Given the description of an element on the screen output the (x, y) to click on. 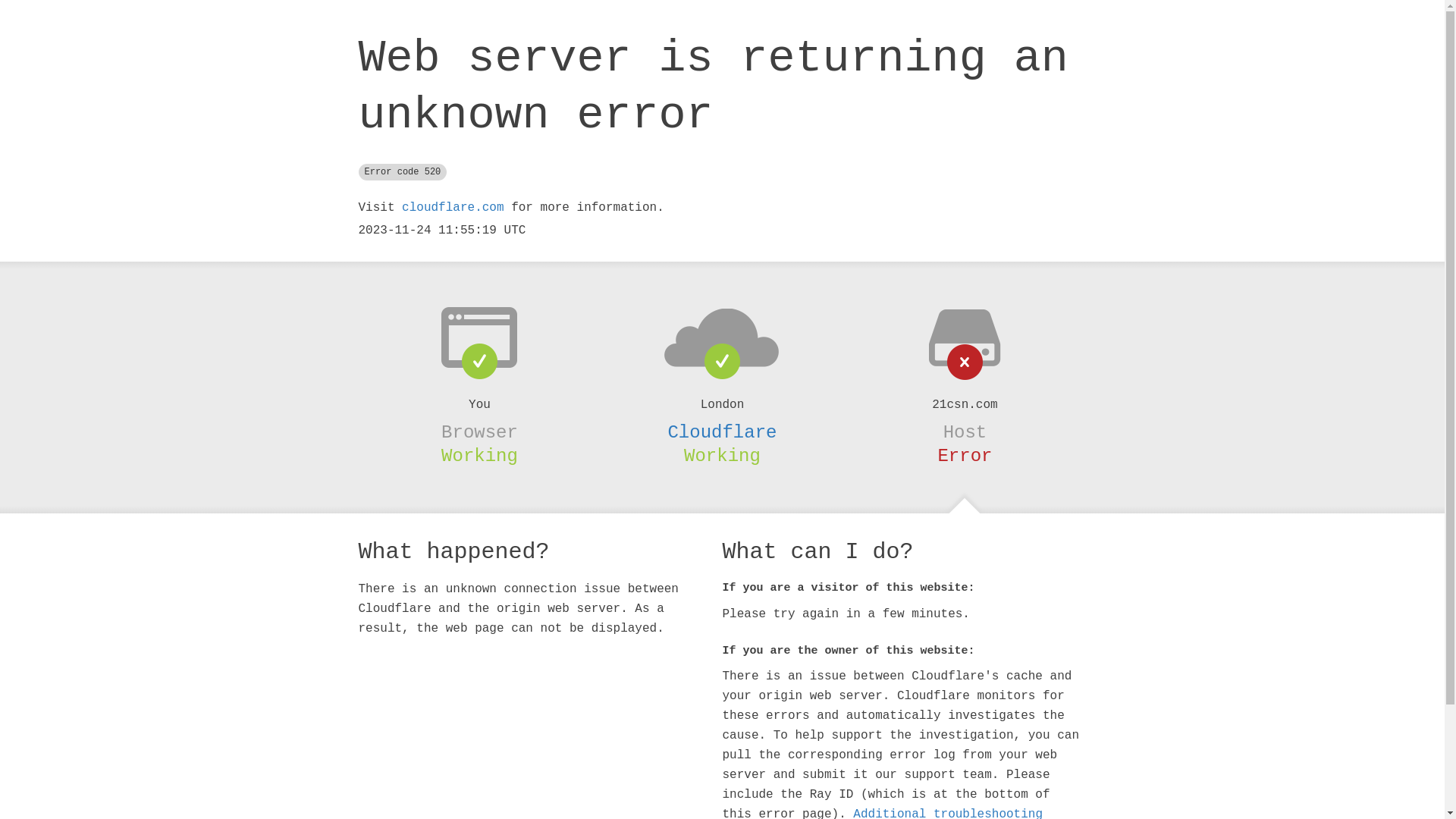
cloudflare.com Element type: text (452, 207)
Cloudflare Element type: text (721, 432)
